Given the description of an element on the screen output the (x, y) to click on. 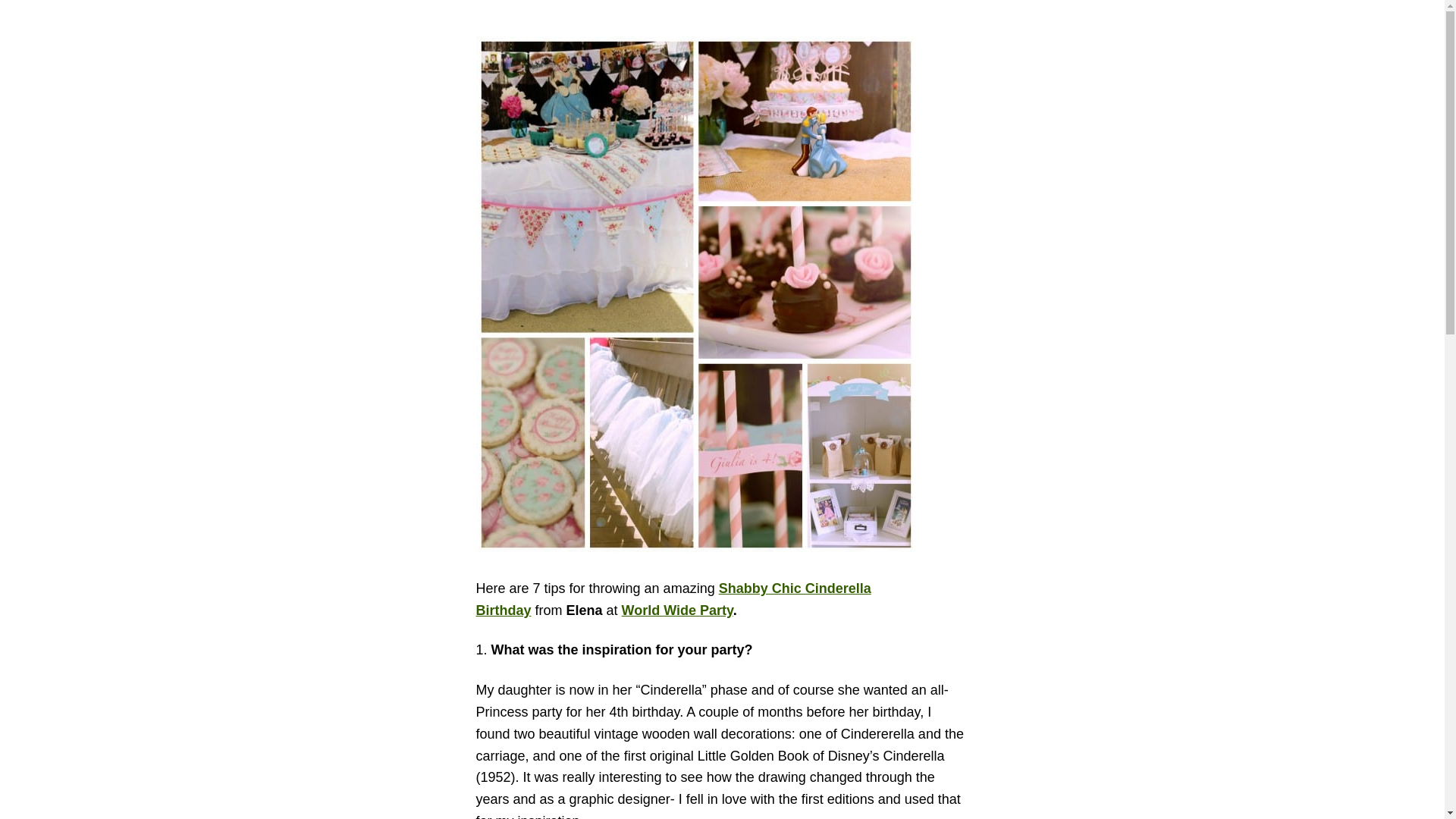
Shabby Chic Cinderella Birthday (673, 599)
shabby-chic-cinderella-birthday-party (673, 599)
World Wide Party (677, 610)
world-wide-party (677, 610)
